Given the description of an element on the screen output the (x, y) to click on. 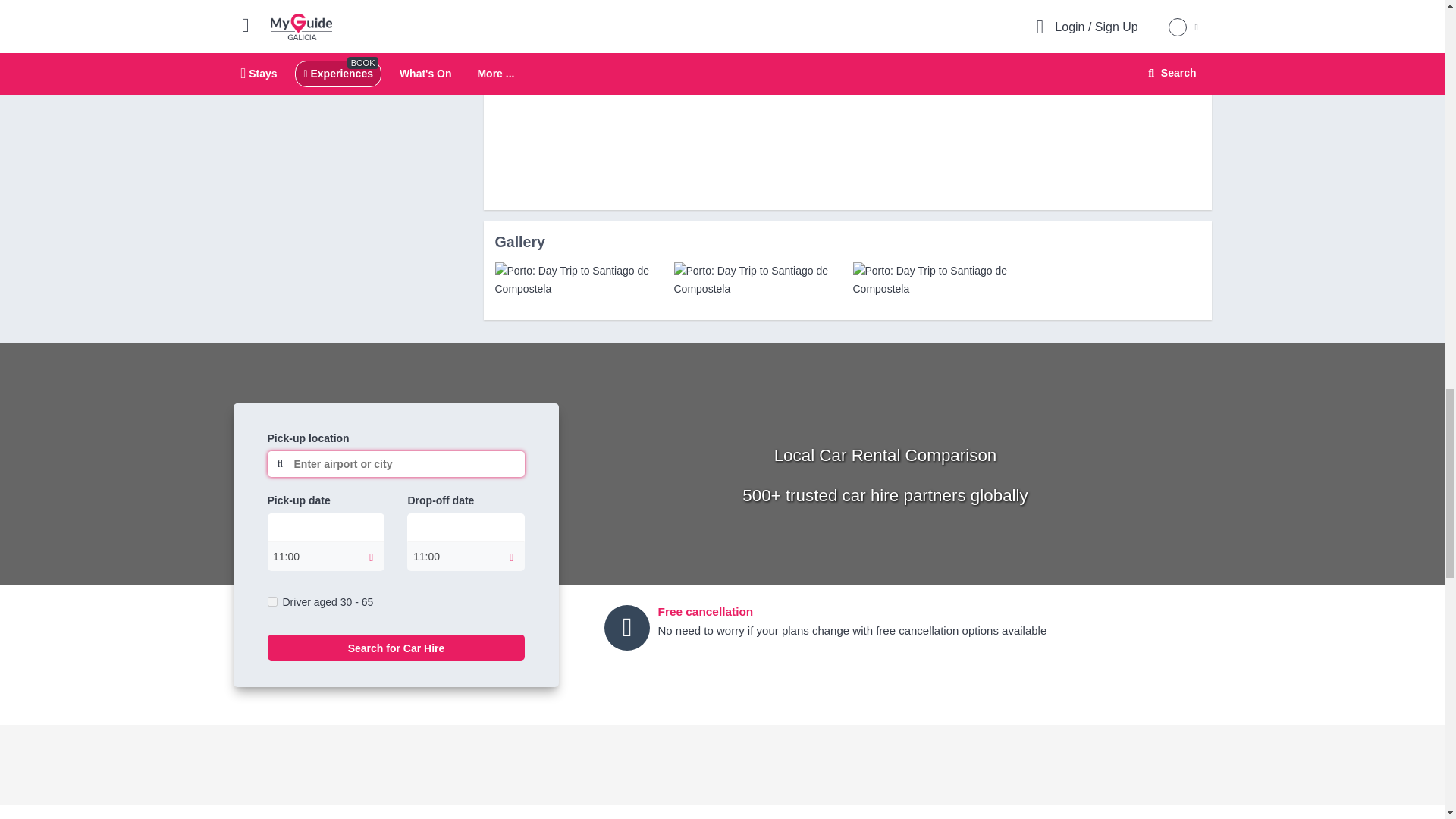
on (271, 601)
